Given the description of an element on the screen output the (x, y) to click on. 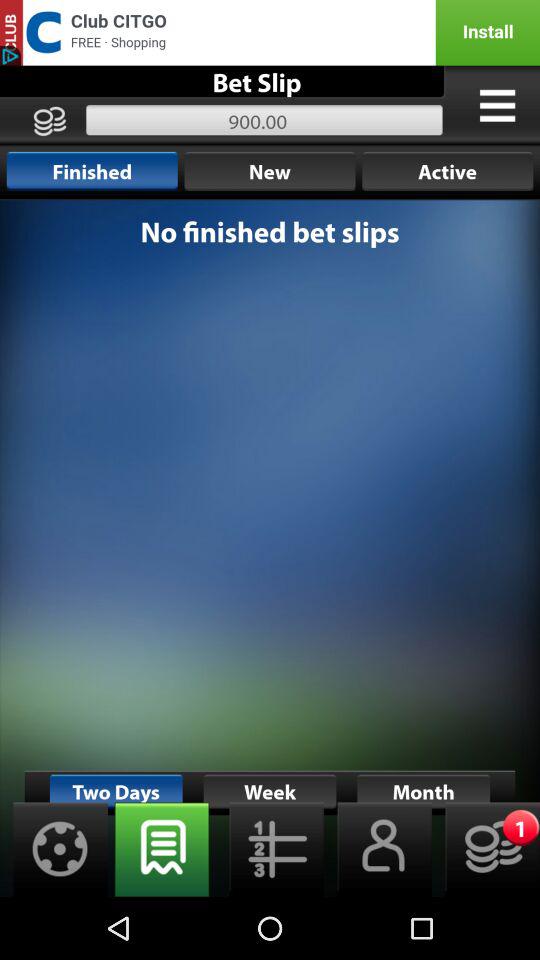
open settings (54, 849)
